Given the description of an element on the screen output the (x, y) to click on. 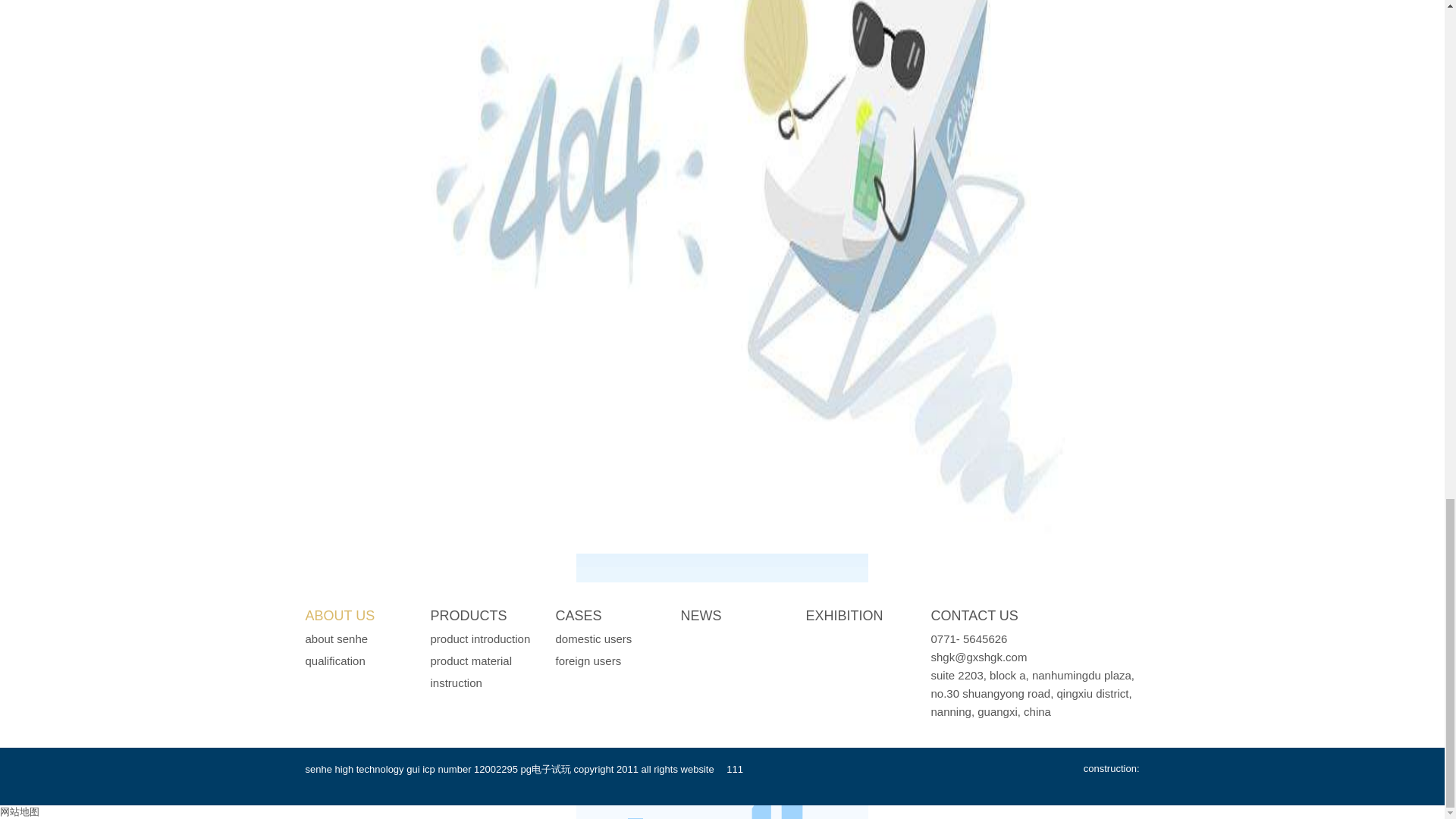
EXHIBITION (843, 615)
product introduction (480, 638)
CASES (577, 615)
instruction (455, 682)
domestic users (592, 638)
PRODUCTS (468, 615)
about senhe (336, 638)
foreign users (587, 660)
NEWS (701, 615)
product material (471, 660)
